Given the description of an element on the screen output the (x, y) to click on. 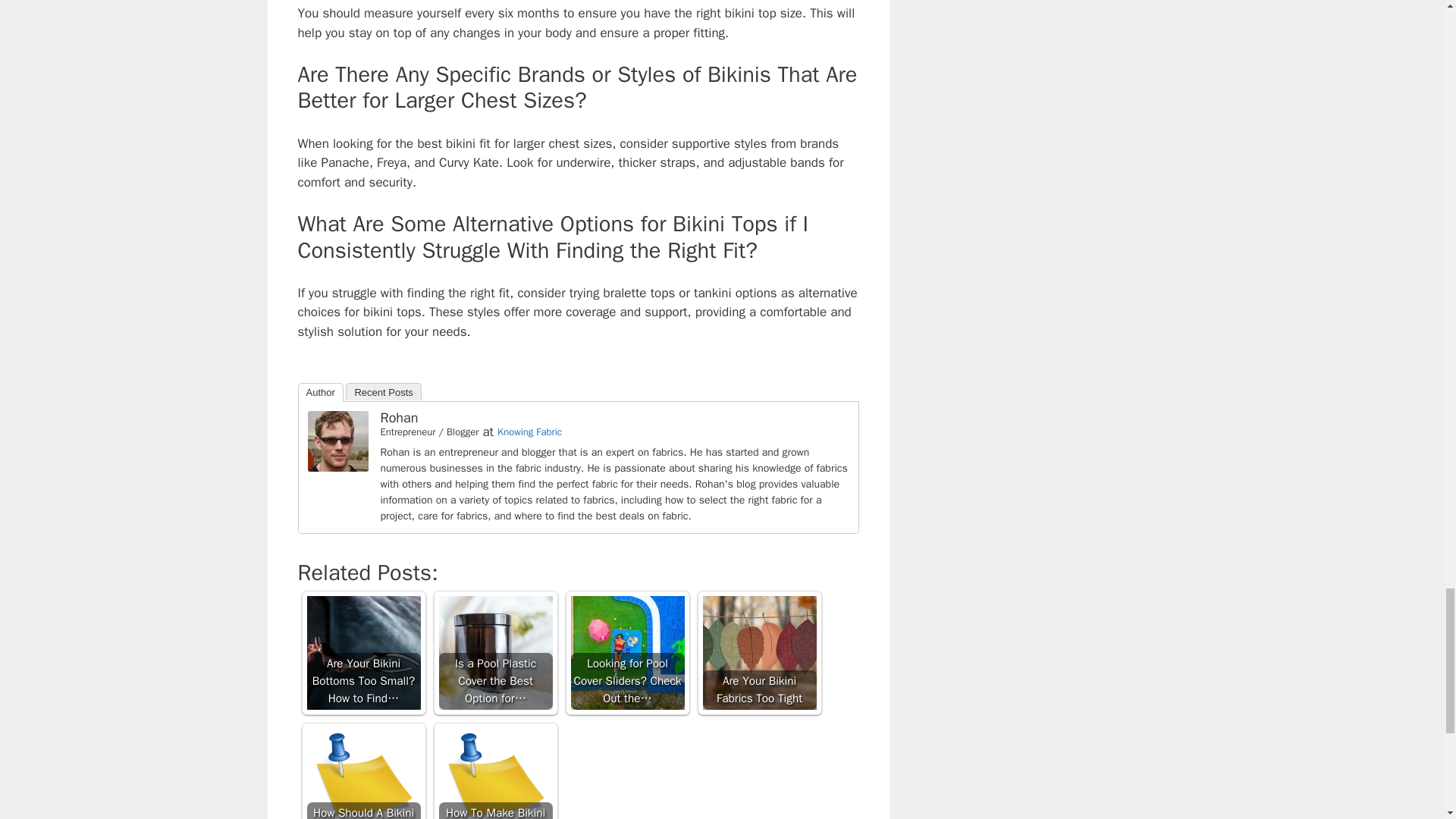
Are Your Bikini Fabrics Too Tight (758, 653)
Are Your Bikini Fabrics Too Tight (758, 653)
Author (319, 392)
How To Make Bikini Bottoms Bigger (494, 773)
Recent Posts (383, 391)
How To Make Bikini Bottoms Bigger (494, 773)
Looking for Pool Cover Sliders? Check Out the Best Fabrics (627, 653)
Knowing Fabric (529, 431)
